Given the description of an element on the screen output the (x, y) to click on. 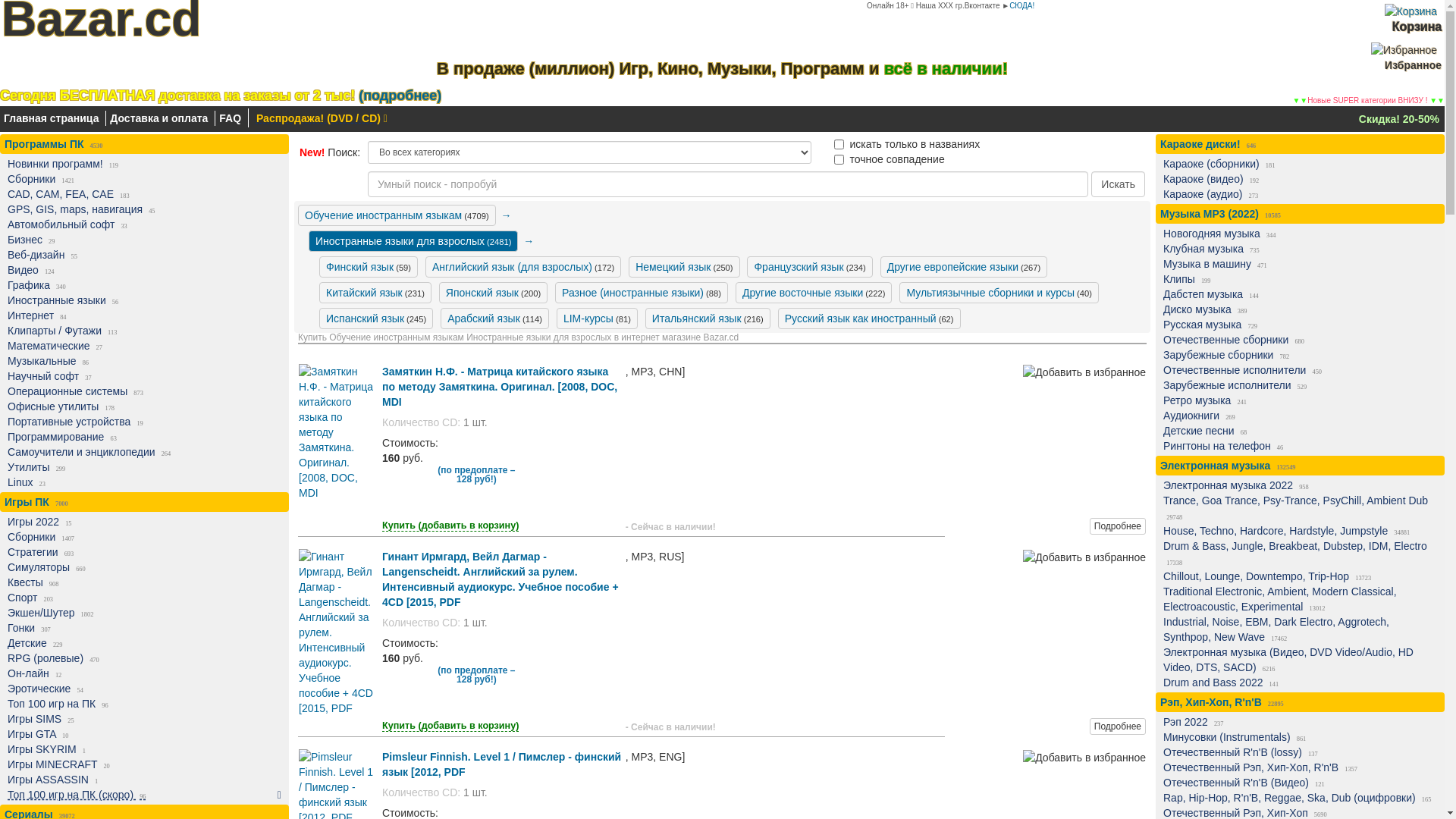
Linux 23 Element type: text (140, 481)
Chillout, Lounge, Downtempo, Trip-Hop 13723 Element type: text (1296, 575)
CAD, CAM, FEA, CAE 183 Element type: text (140, 193)
Drum and Bass 2022 141 Element type: text (1296, 682)
House, Techno, Hardcore, Hardstyle, Jumpstyle 34881 Element type: text (1296, 530)
Drum & Bass, Jungle, Breakbeat, Dubstep, IDM, Electro 17338 Element type: text (1296, 553)
FAQ Element type: text (230, 118)
Trance, Goa Trance, Psy-Trance, PsyChill, Ambient Dub 29748 Element type: text (1296, 507)
